Given the description of an element on the screen output the (x, y) to click on. 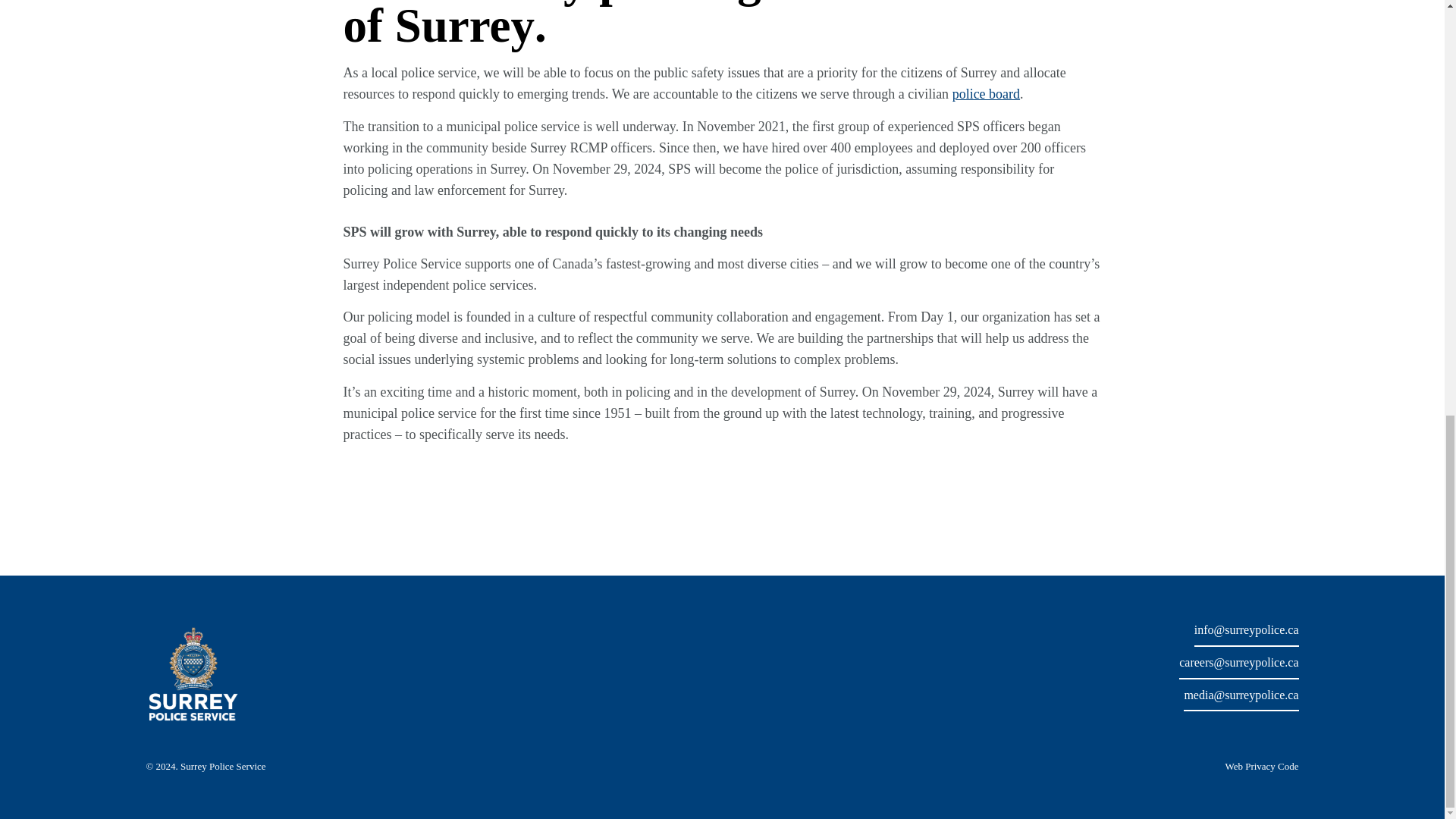
Follow us on Youtube (1259, 726)
Follow us on LinkedIN (1285, 726)
Follow us on Facebook (1206, 725)
Follow us on Instagram (1233, 725)
Follow us on Twitter (1181, 725)
